Given the description of an element on the screen output the (x, y) to click on. 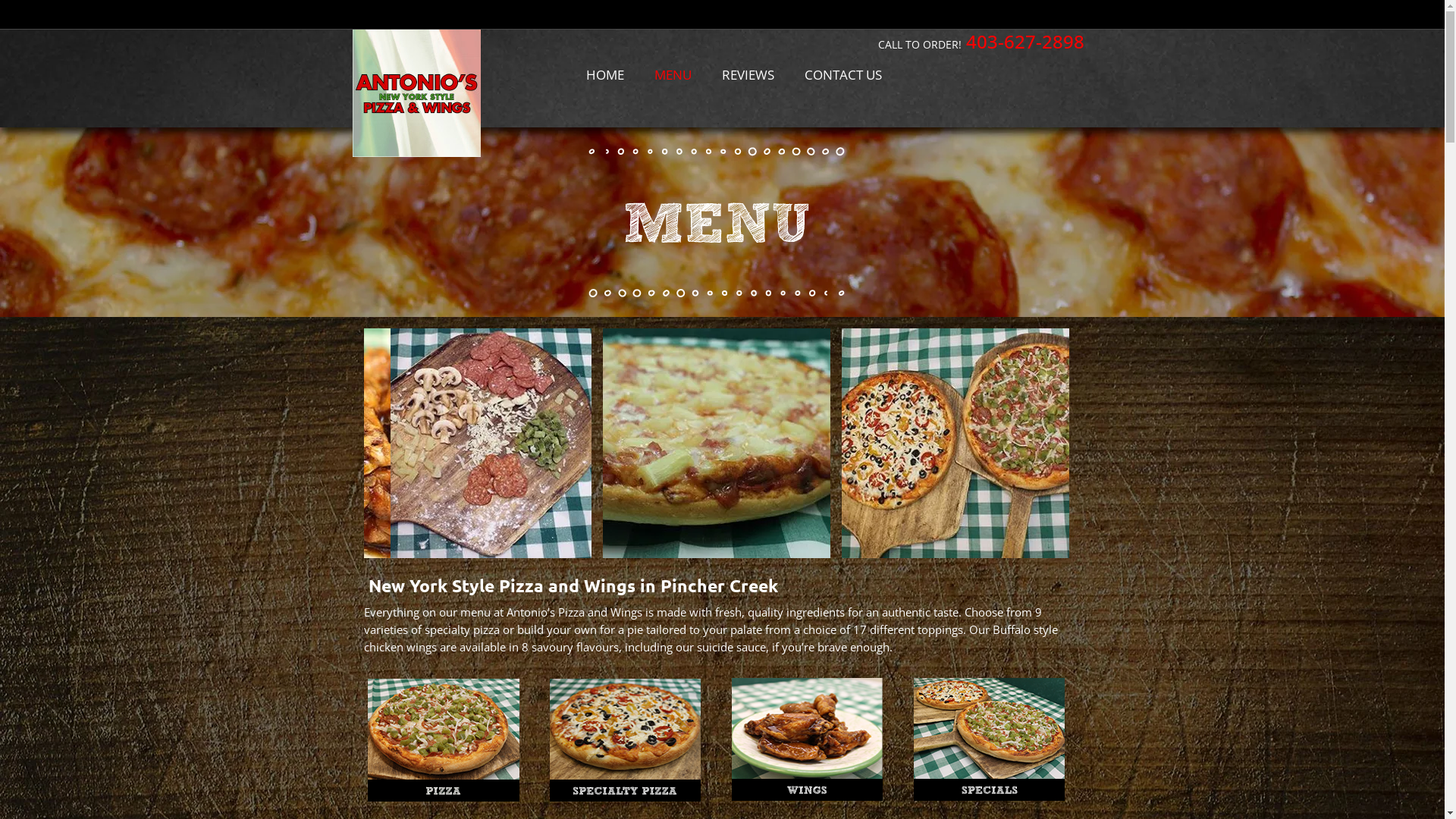
CONTACT US Element type: text (842, 74)
REVIEWS Element type: text (747, 74)
Embedded Content Element type: hover (1063, 19)
MENU Element type: text (672, 74)
HOME Element type: text (604, 74)
403-627-2898 Element type: text (1025, 45)
Embedded Content Element type: hover (934, 18)
